Given the description of an element on the screen output the (x, y) to click on. 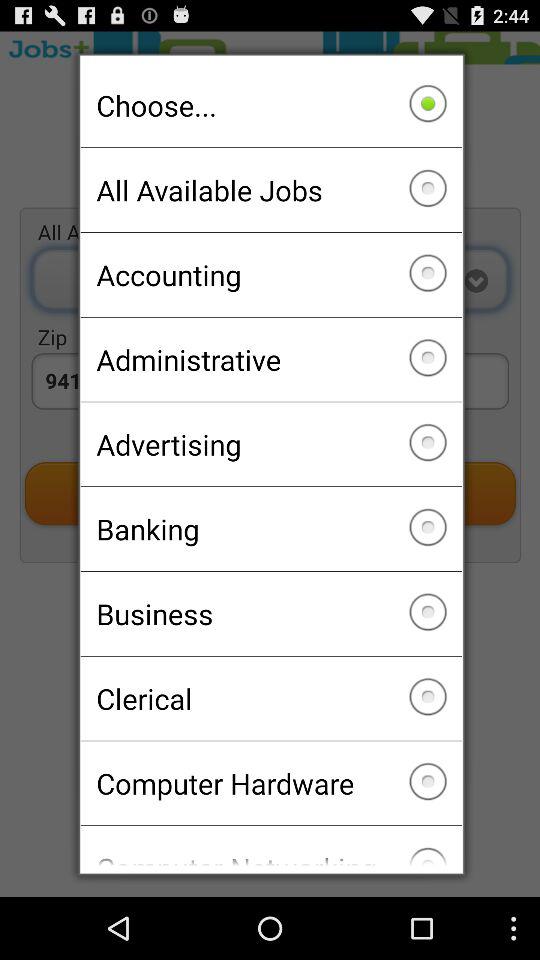
turn on icon below the accounting (270, 359)
